Given the description of an element on the screen output the (x, y) to click on. 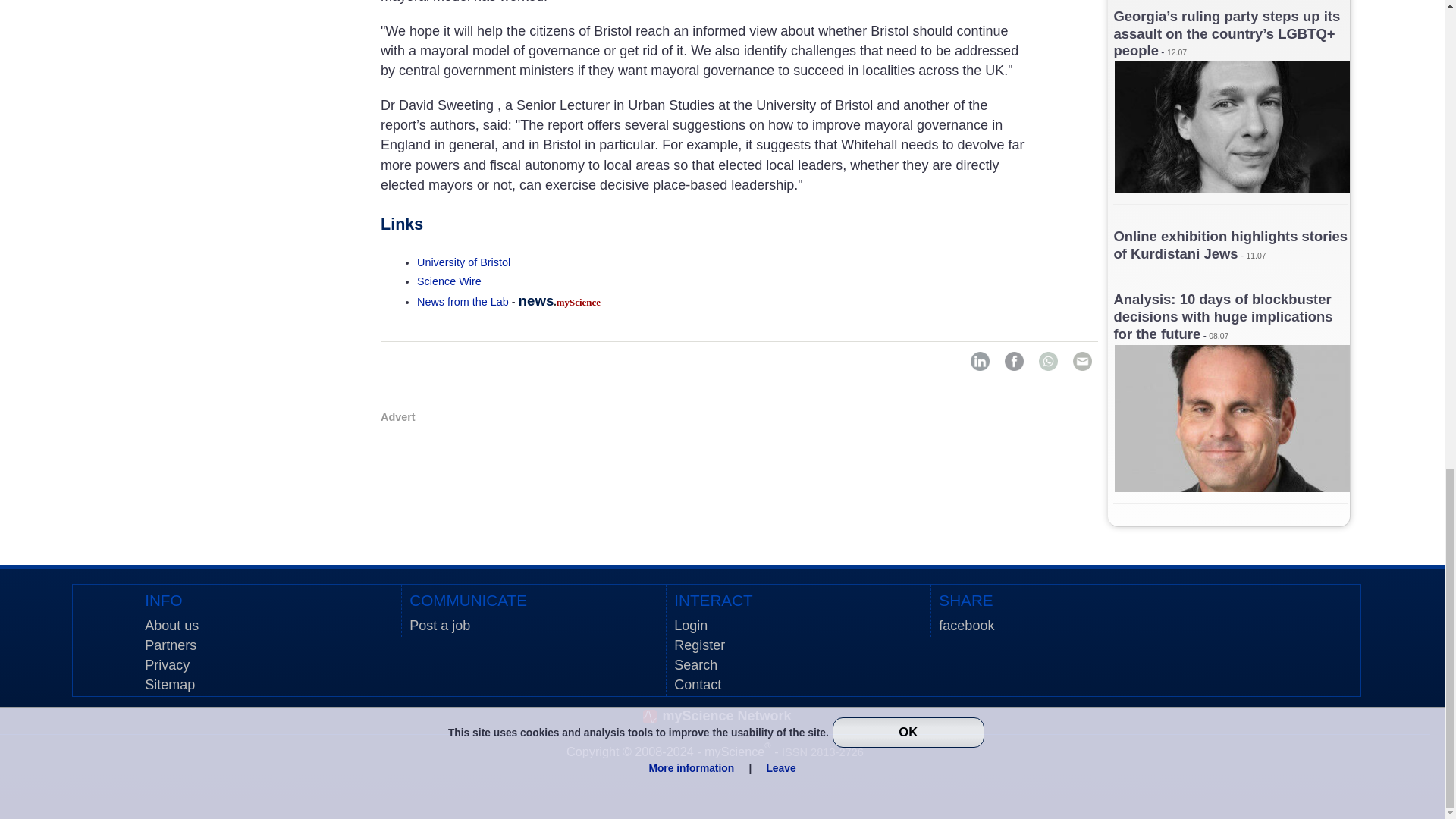
Share on LinkedIn (980, 361)
Share on Facebook (1014, 361)
Share on WhatsApp Web (1047, 361)
All news and press releases (448, 281)
Send by Email (1082, 361)
News (462, 301)
